Given the description of an element on the screen output the (x, y) to click on. 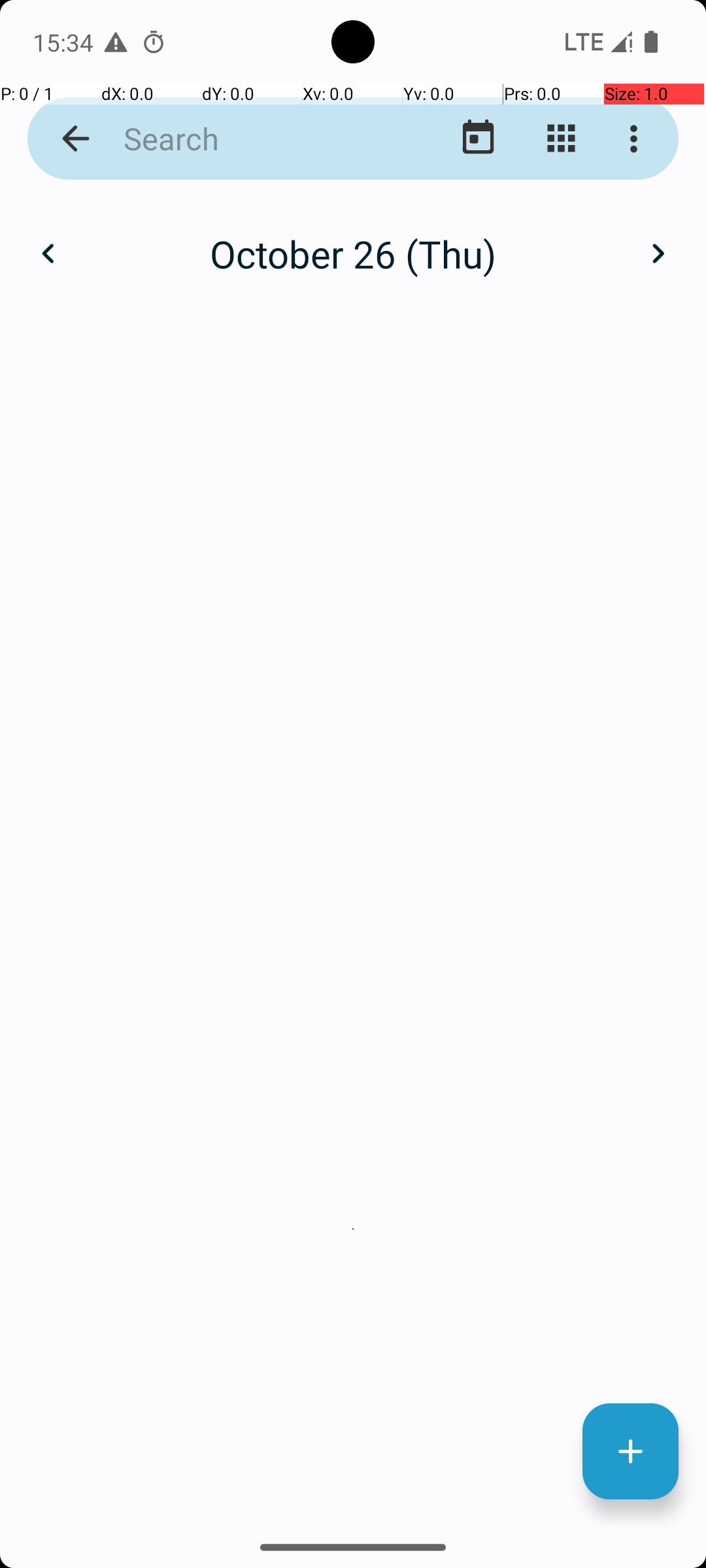
Go to today Element type: android.widget.Button (477, 138)
October 26 (Thu) Element type: android.widget.TextView (352, 253)
